Given the description of an element on the screen output the (x, y) to click on. 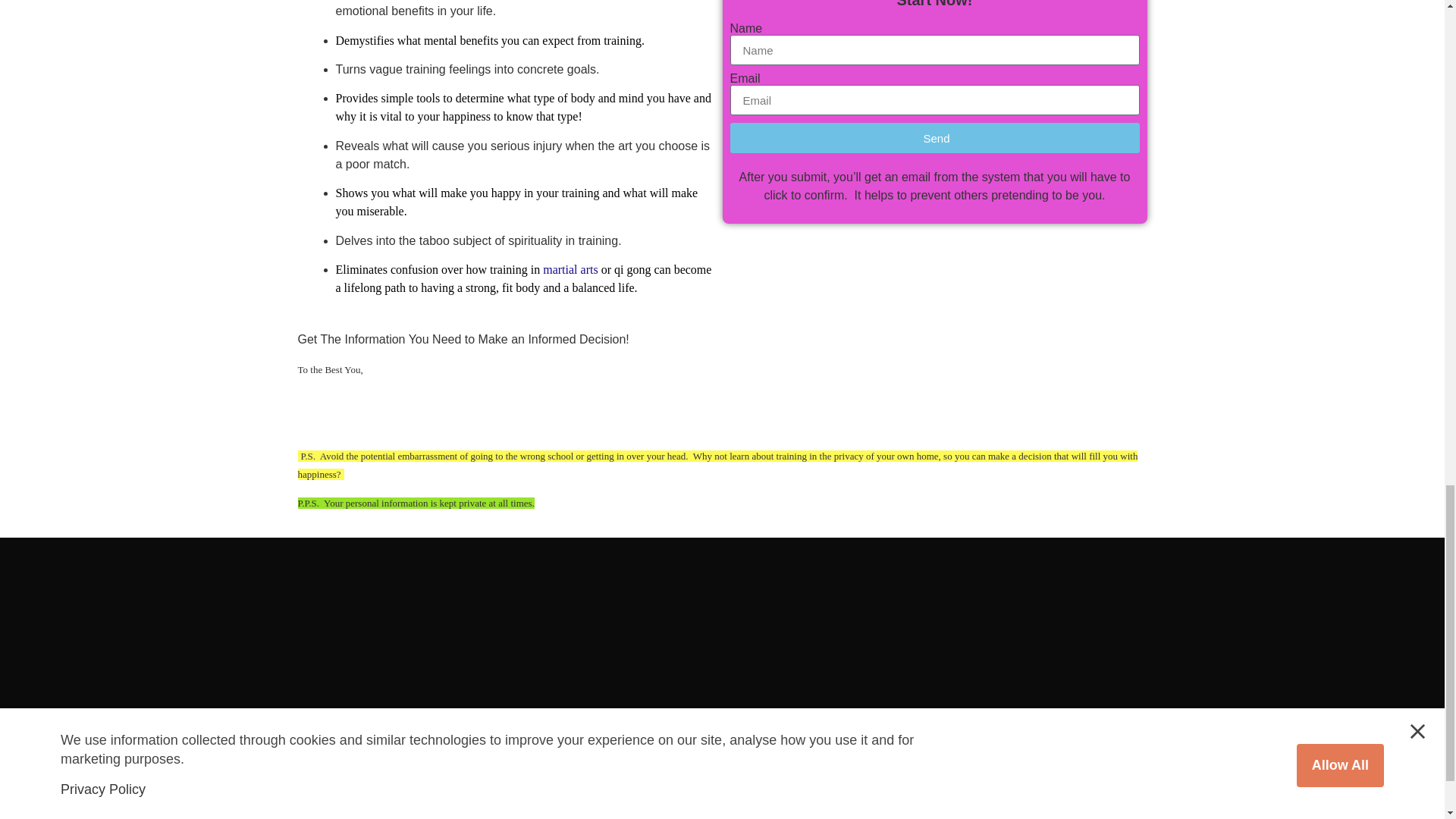
Send (933, 137)
Home (272, 771)
About (444, 771)
MasterMikesignature (415, 426)
Branded Items (358, 771)
martial arts (569, 269)
